Given the description of an element on the screen output the (x, y) to click on. 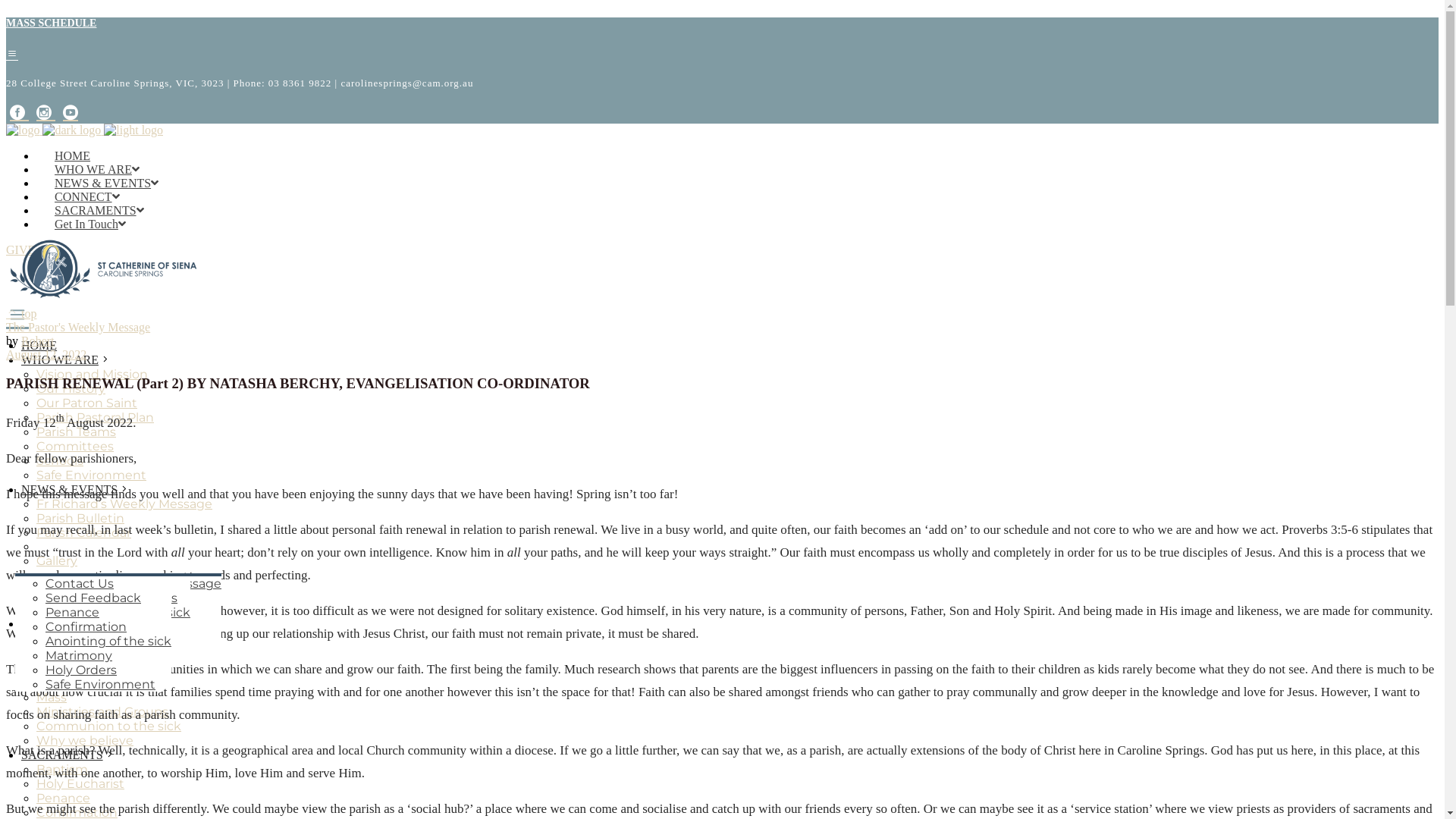
Parish Pastoral Plan Element type: text (104, 626)
Parish Calendar Element type: text (83, 532)
Send Feedback Element type: text (93, 597)
Parish Bulletin Element type: text (80, 518)
Penance Element type: text (63, 797)
Our History Element type: text (79, 597)
Committees Element type: text (74, 446)
Matrimony Element type: text (78, 655)
Get In Touch Element type: text (90, 223)
WHO WE ARE Element type: text (96, 169)
Gallery Element type: text (65, 640)
The Pastor's Weekly Message Element type: text (78, 326)
Parish Teams Element type: text (85, 640)
Communion to the sick Element type: text (117, 612)
Baptism Element type: text (71, 583)
Vision and Mission Element type: text (100, 583)
Our Patron Saint Element type: text (86, 402)
Robert Element type: text (37, 340)
Parish Pastoral Plan Element type: text (94, 417)
Vision and Mission Element type: text (91, 374)
Safe Environment Element type: text (91, 474)
Why we believe Element type: text (93, 626)
Ministries and Groups Element type: text (102, 710)
HOME Element type: text (72, 155)
Schools Element type: text (59, 460)
CONNECT Element type: text (87, 196)
NEWS & EVENTS Element type: text (69, 489)
Mass Element type: text (60, 583)
Parish Calendar Element type: text (92, 612)
HOME Element type: text (38, 344)
Our History Element type: text (70, 388)
GIVE Element type: text (20, 249)
August 12, 2022 Element type: text (46, 354)
Baptism Element type: text (61, 768)
Gallery Element type: text (56, 560)
Penance Element type: text (72, 612)
SACRAMENTS Element type: text (62, 753)
Safe Environment Element type: text (100, 684)
Holy Orders Element type: text (80, 669)
Contact Us Element type: text (79, 583)
WHO WE ARE Element type: text (59, 359)
Anointing of the sick Element type: text (108, 640)
Holy Eucharist Element type: text (80, 783)
Our Patron Saint Element type: text (95, 612)
MASS SCHEDULE Element type: text (722, 38)
Confirmation Element type: text (85, 626)
Communion to the sick Element type: text (108, 725)
Ministries and Groups Element type: text (111, 597)
top Element type: text (21, 313)
SACRAMENTS Element type: text (99, 209)
Parish Teams Element type: text (76, 431)
Schools Element type: text (68, 669)
NEWS & EVENTS Element type: text (106, 182)
Committees Element type: text (83, 655)
Why we believe Element type: text (84, 739)
Parish Bulletin Element type: text (89, 597)
Mass Element type: text (51, 697)
